Given the description of an element on the screen output the (x, y) to click on. 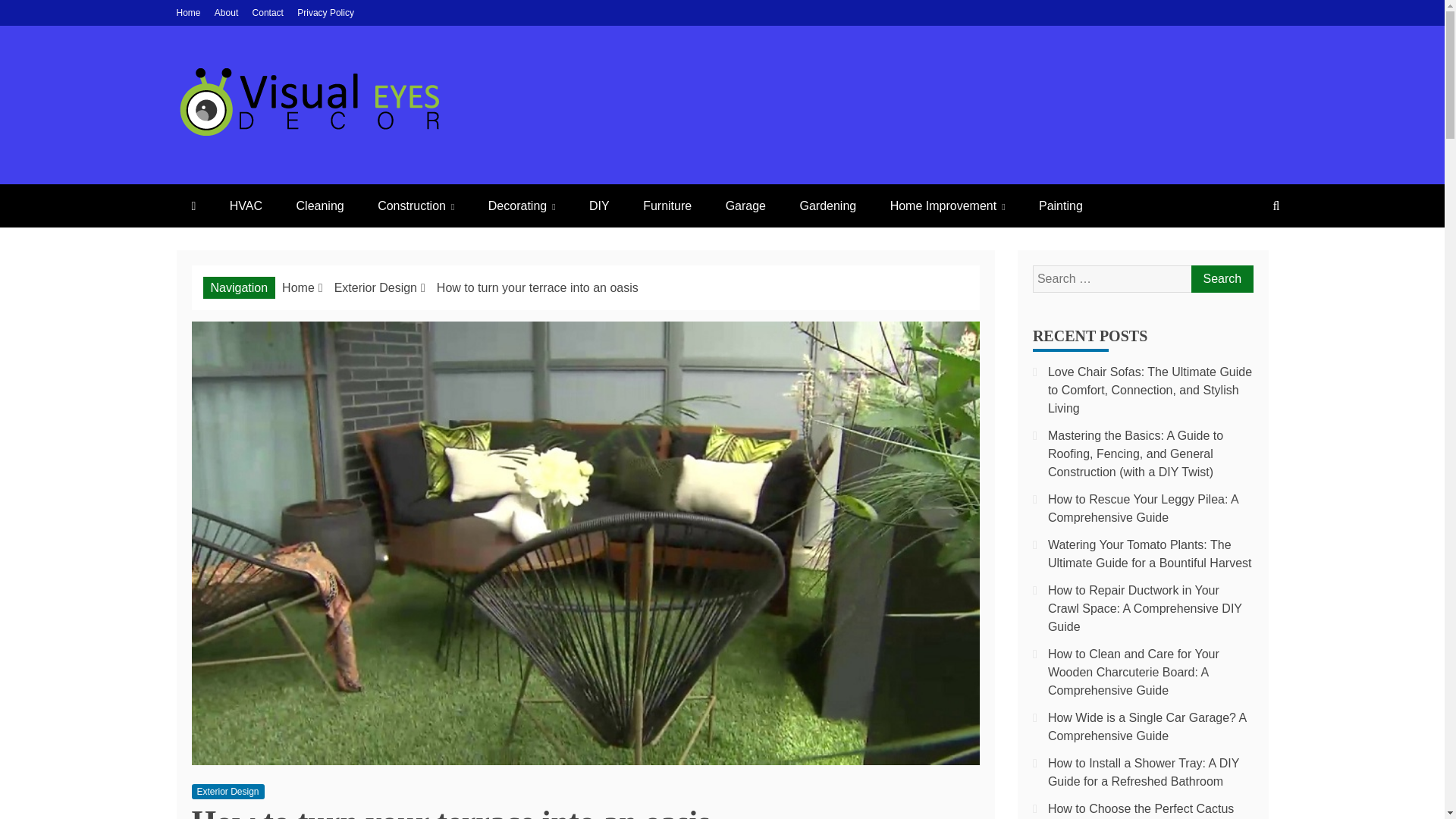
Search (1221, 278)
Furniture (666, 205)
Cleaning (320, 205)
Search (1221, 278)
DIY (598, 205)
HVAC (246, 205)
Home (188, 12)
Decorating (521, 205)
Exterior Design (375, 287)
Visual Eyes Decor (305, 165)
Garage (745, 205)
Construction (415, 205)
Gardening (827, 205)
Home (298, 287)
Contact (267, 12)
